Given the description of an element on the screen output the (x, y) to click on. 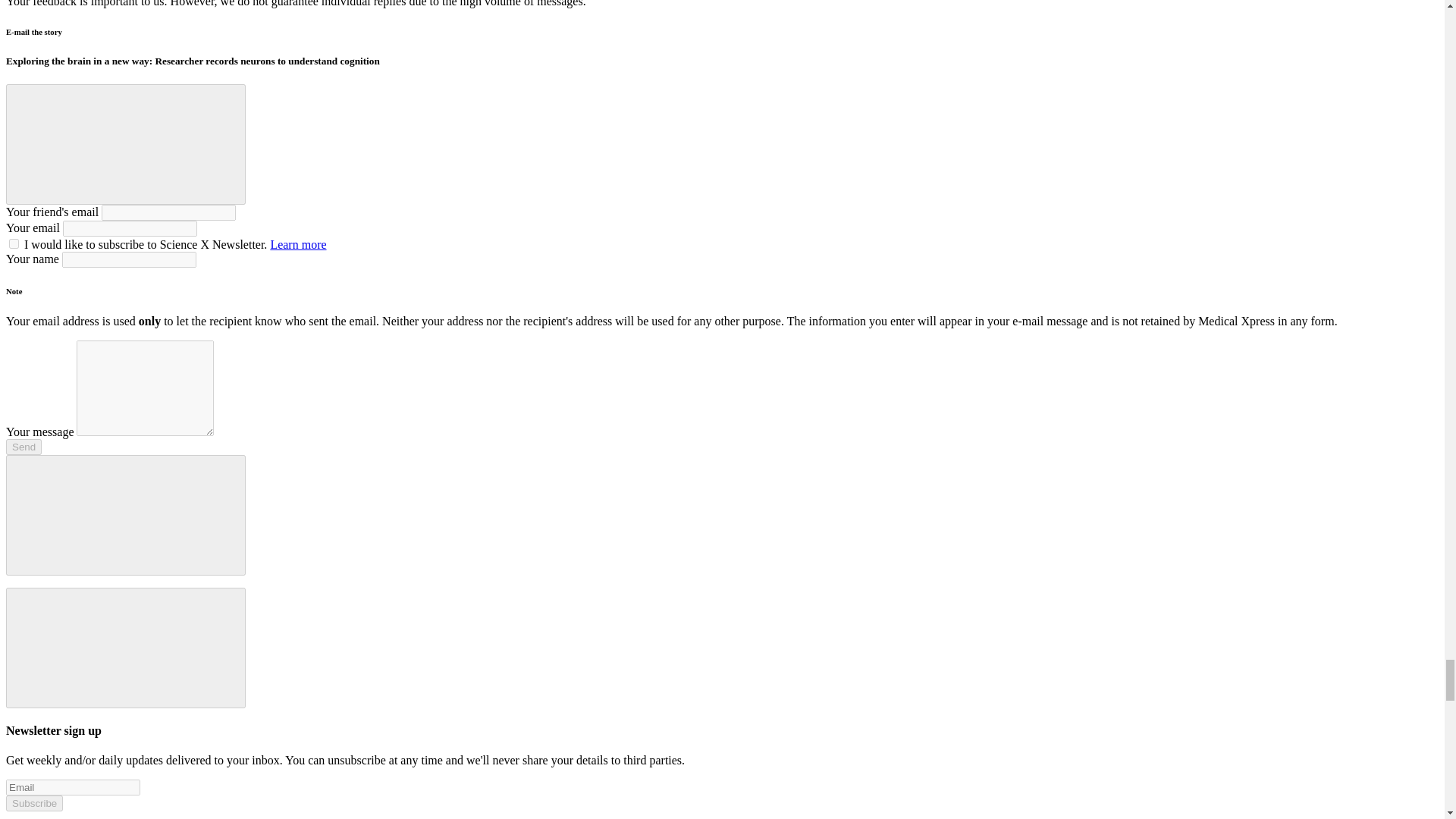
1 (13, 243)
